Given the description of an element on the screen output the (x, y) to click on. 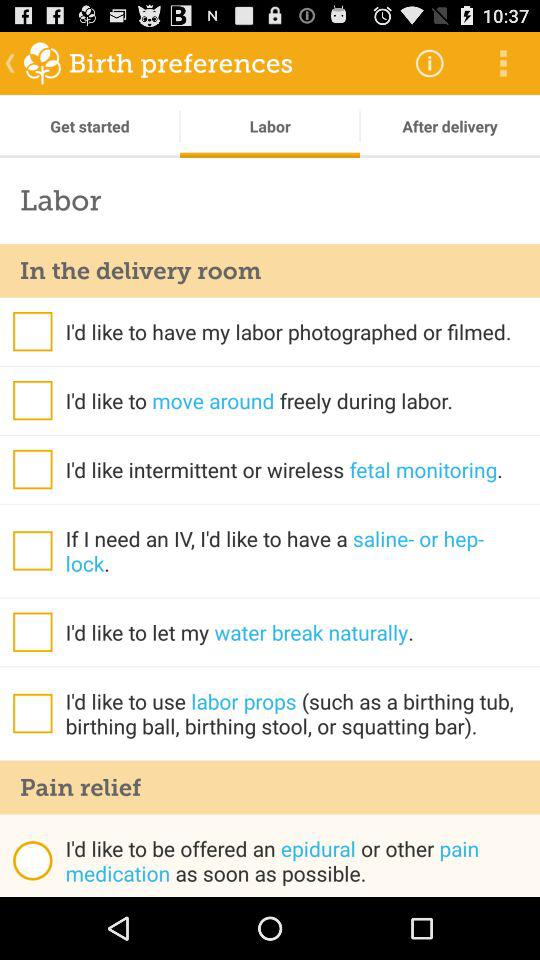
turn on the in the delivery icon (270, 270)
